Given the description of an element on the screen output the (x, y) to click on. 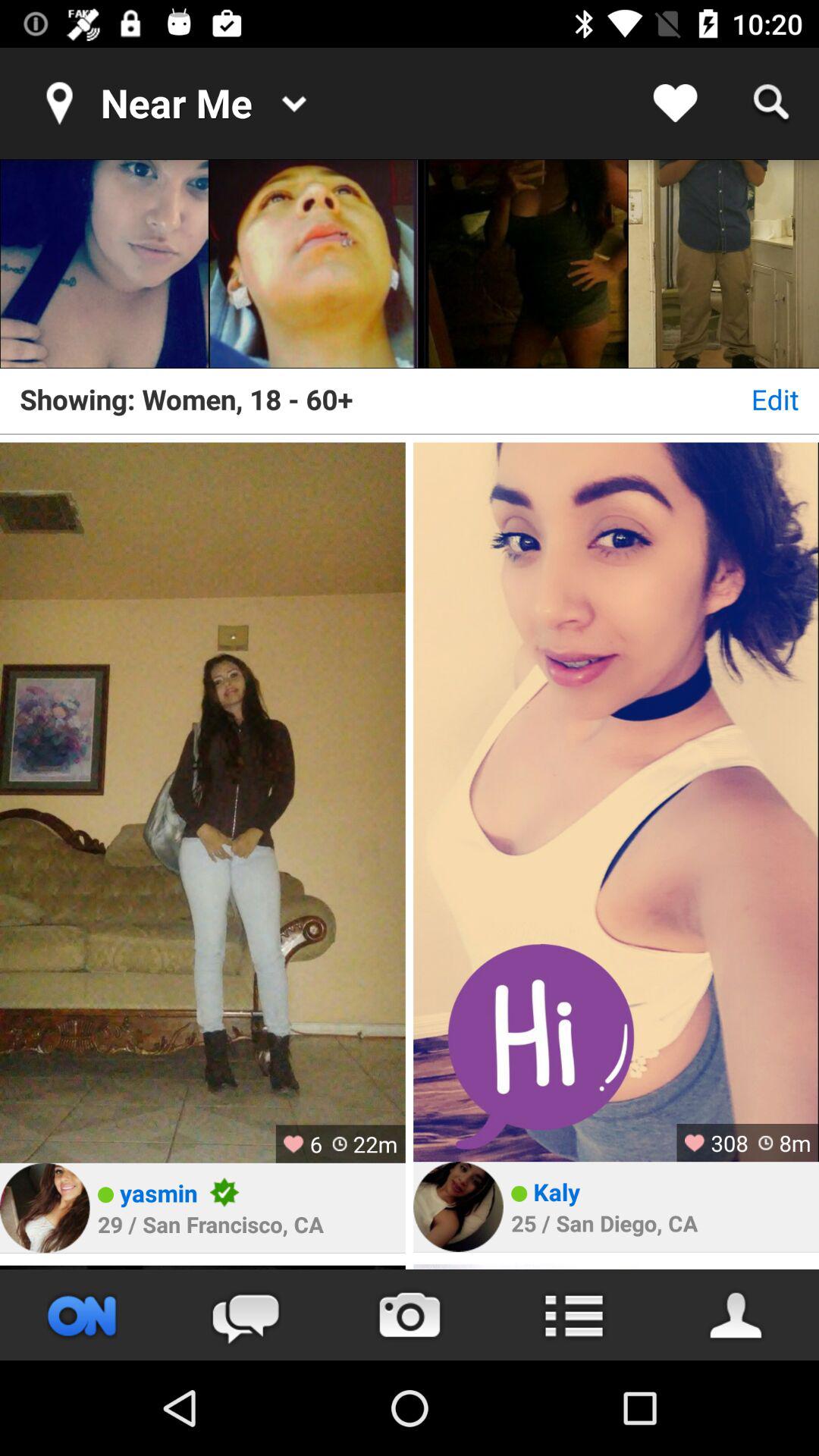
chat (245, 1315)
